Given the description of an element on the screen output the (x, y) to click on. 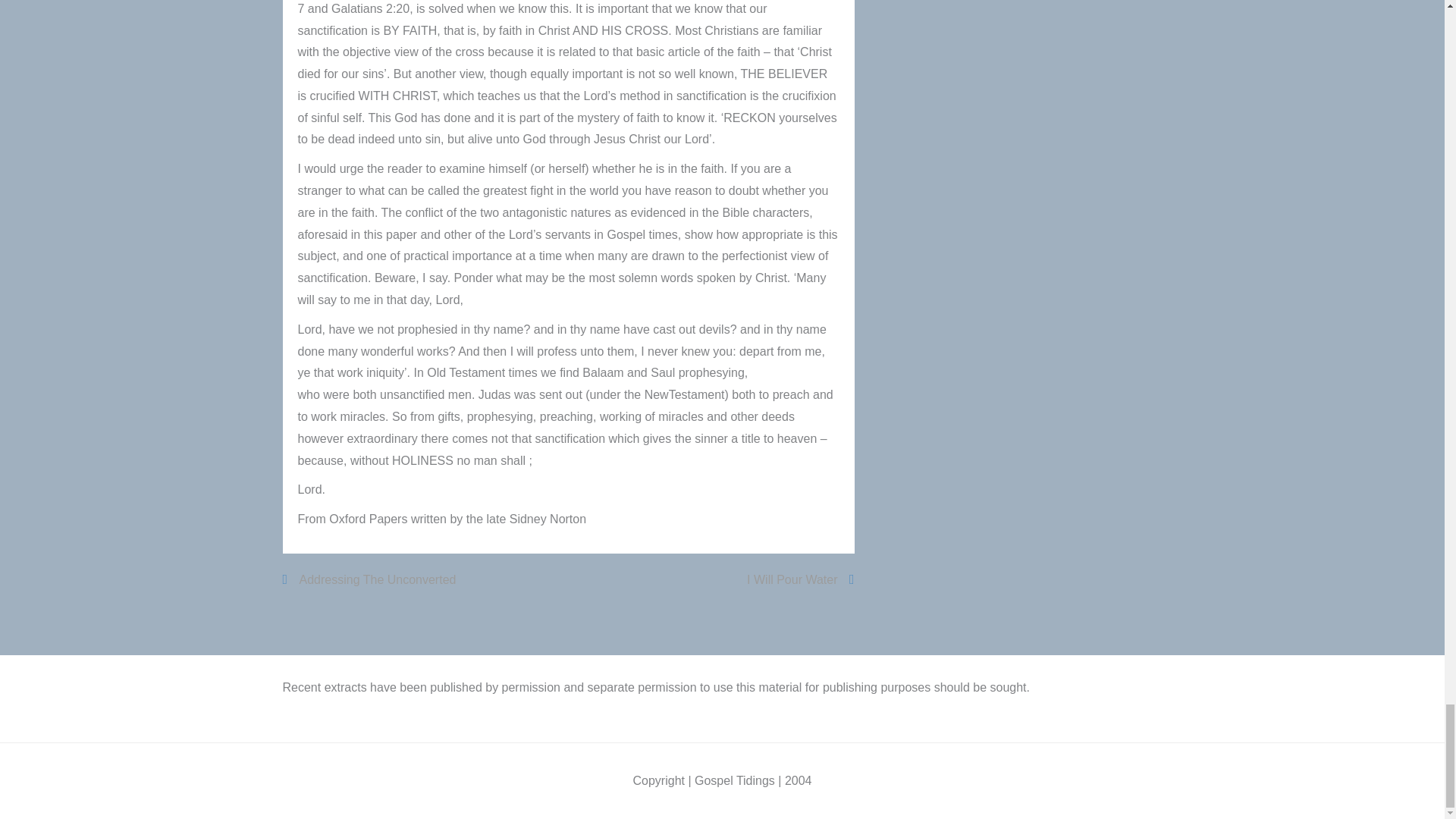
I Will Pour Water (798, 579)
Addressing The Unconverted (369, 579)
